Given the description of an element on the screen output the (x, y) to click on. 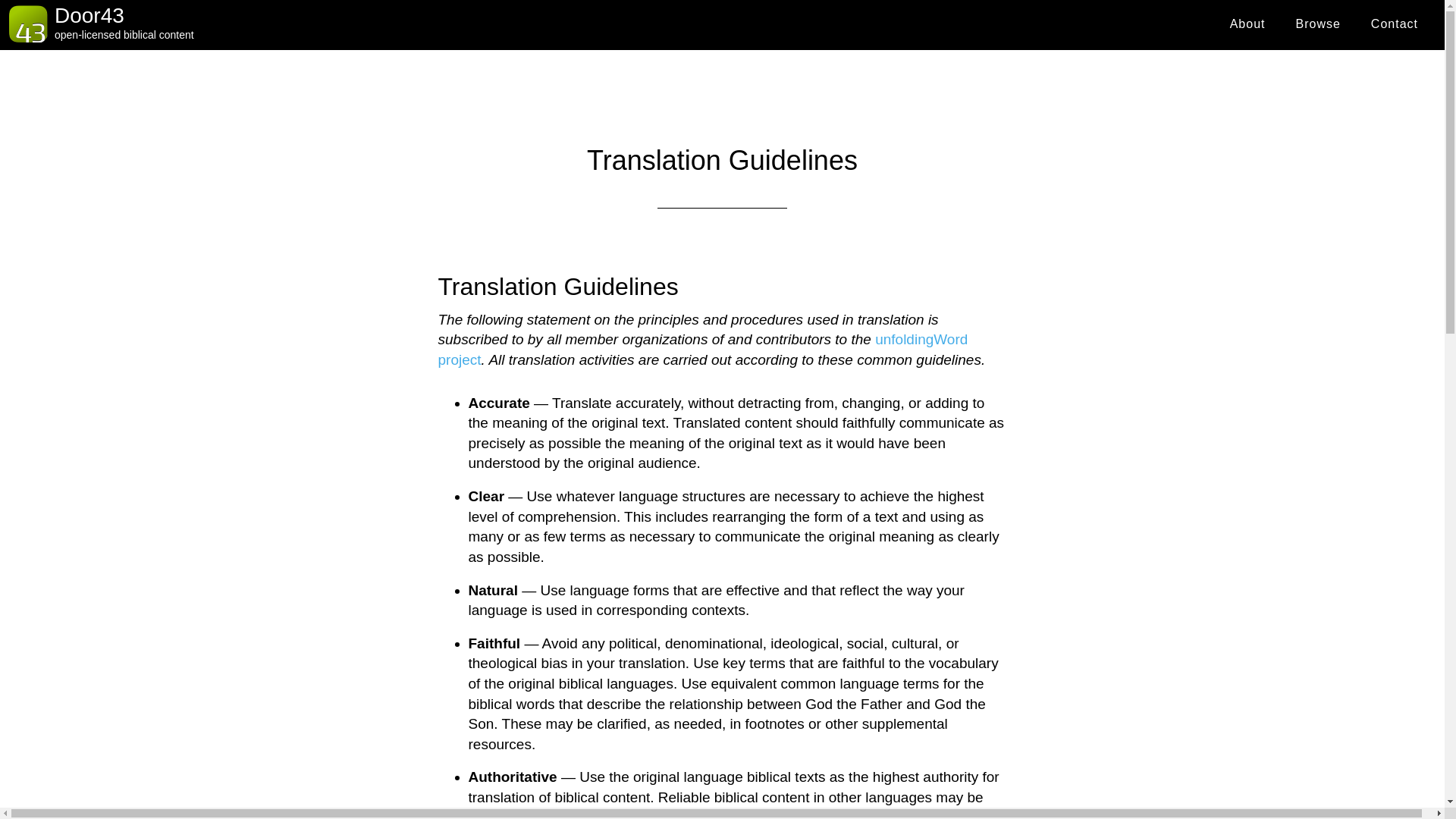
Browse (1317, 23)
About (1247, 23)
unfoldingWord project (703, 349)
Contact (1393, 23)
